Given the description of an element on the screen output the (x, y) to click on. 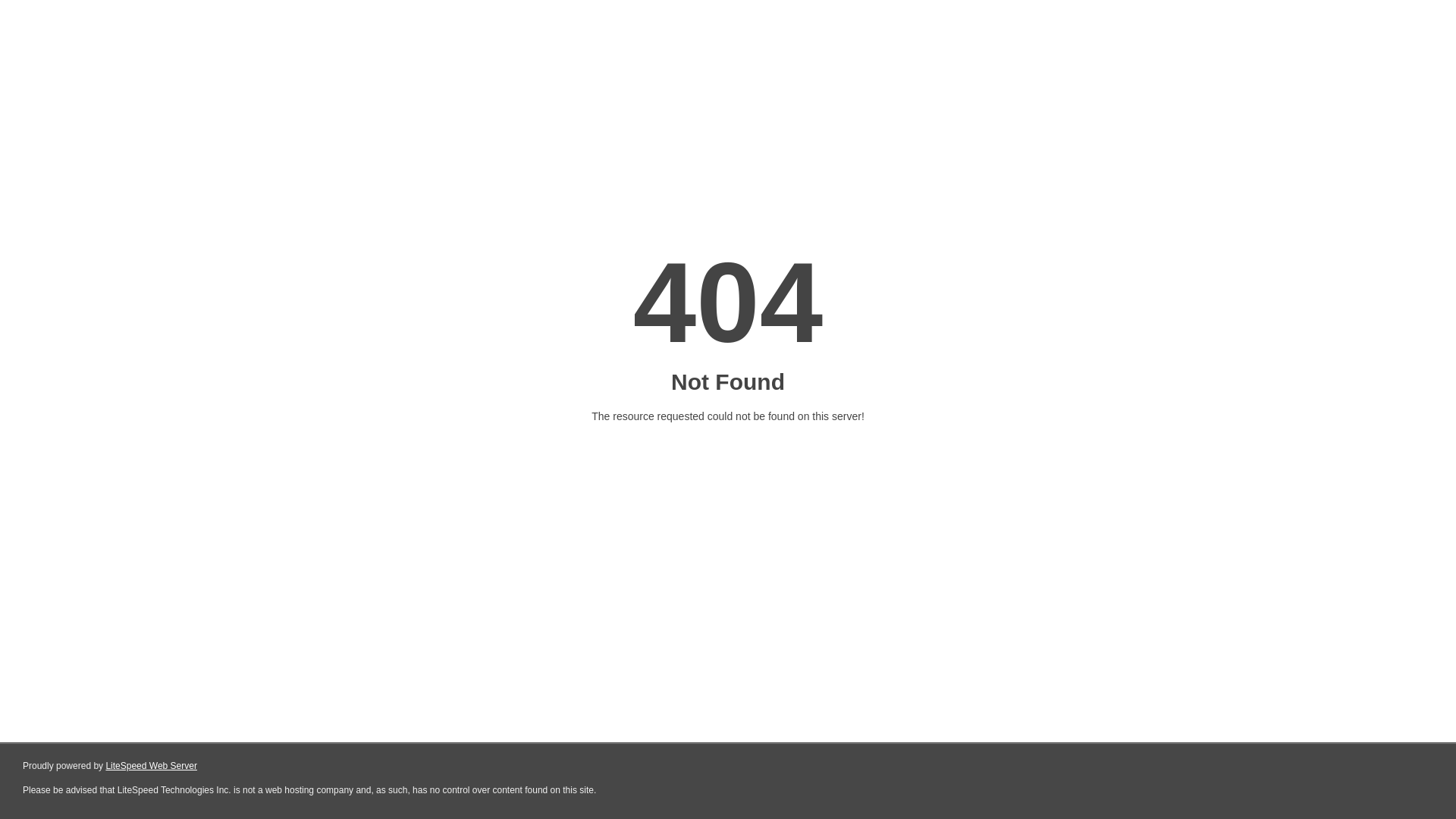
LiteSpeed Web Server Element type: text (151, 765)
